Given the description of an element on the screen output the (x, y) to click on. 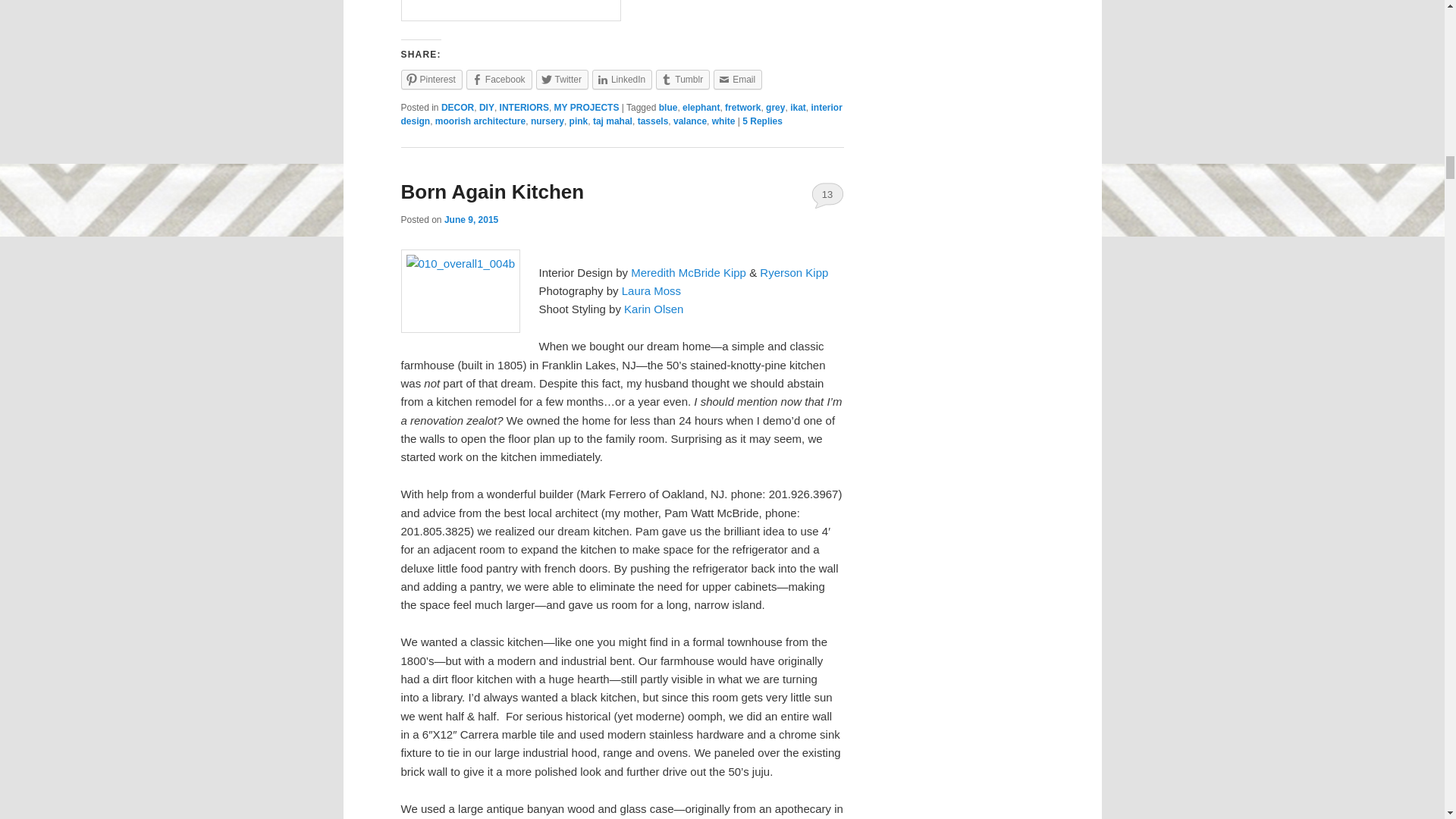
DIY (487, 107)
Facebook (498, 79)
Share on Facebook (498, 79)
Click to share on LinkedIn (622, 79)
Pinterest (430, 79)
Twitter (561, 79)
Tumblr (683, 79)
Click to email this to a friend (737, 79)
LinkedIn (622, 79)
DECOR (457, 107)
Click to share on Pinterest (430, 79)
Click to share on Twitter (561, 79)
9:03 pm (470, 219)
Email (737, 79)
INTERIORS (523, 107)
